Given the description of an element on the screen output the (x, y) to click on. 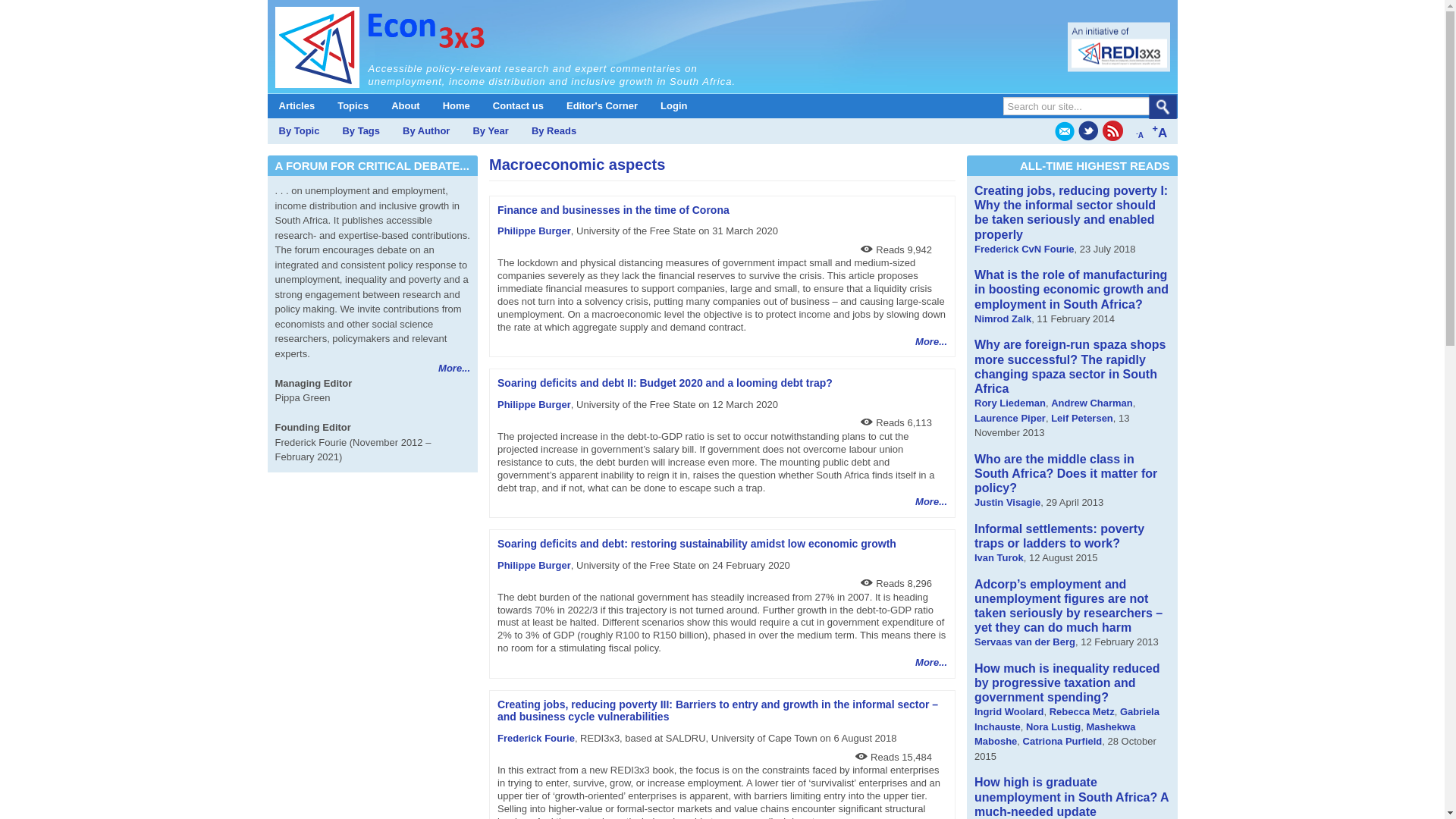
More... (931, 501)
By Topic (298, 130)
Subscribe to our RSS Feed (1112, 130)
-A (1139, 131)
Enter the terms you wish to search for. (1086, 106)
More... (931, 662)
Finance and businesses in the time of Corona (613, 209)
Philippe Burger (533, 404)
By Reads (553, 130)
